Given the description of an element on the screen output the (x, y) to click on. 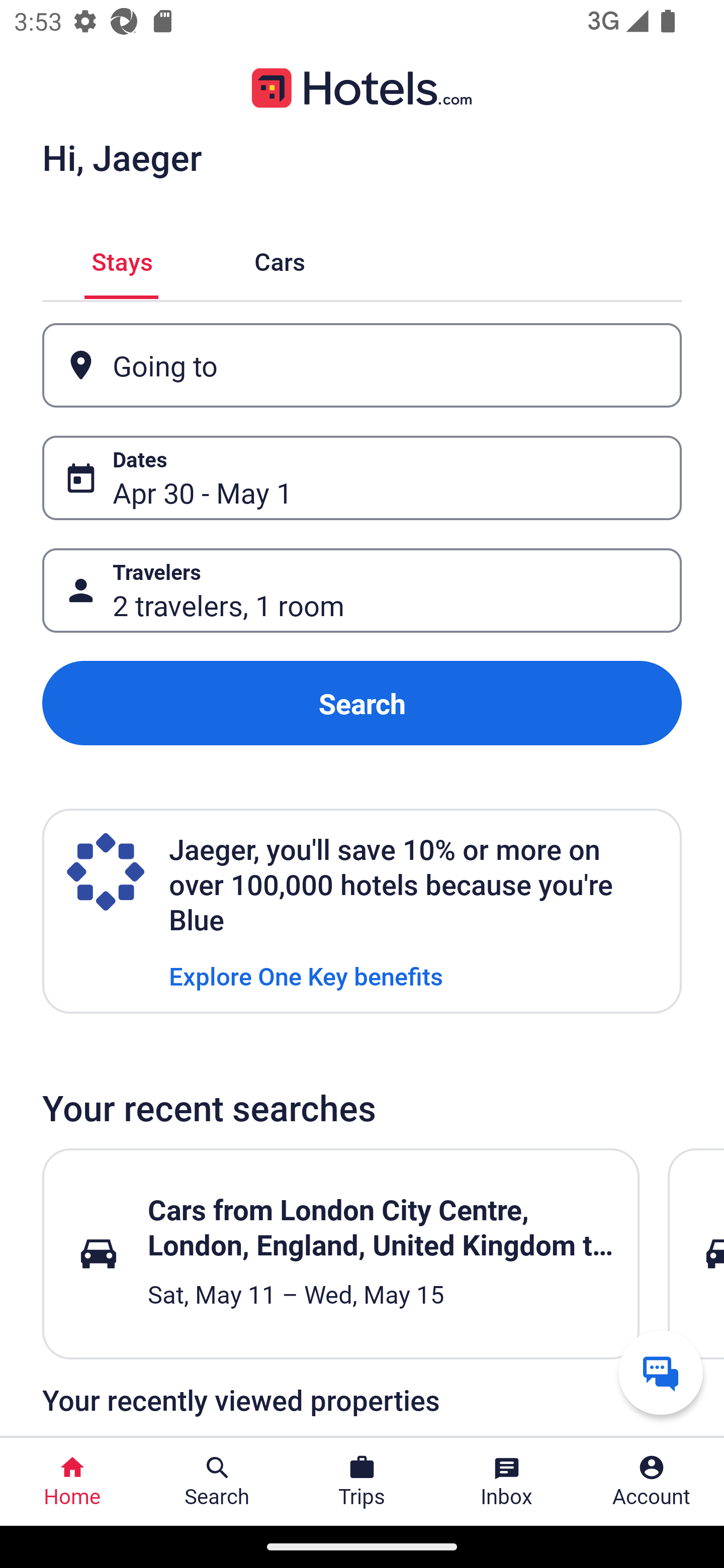
Hi, Jaeger (121, 156)
Cars (279, 259)
Going to Button (361, 365)
Dates Button Apr 30 - May 1 (361, 477)
Travelers Button 2 travelers, 1 room (361, 590)
Search (361, 702)
Get help from a virtual agent (660, 1371)
Search Search Button (216, 1481)
Trips Trips Button (361, 1481)
Inbox Inbox Button (506, 1481)
Account Profile. Button (651, 1481)
